Given the description of an element on the screen output the (x, y) to click on. 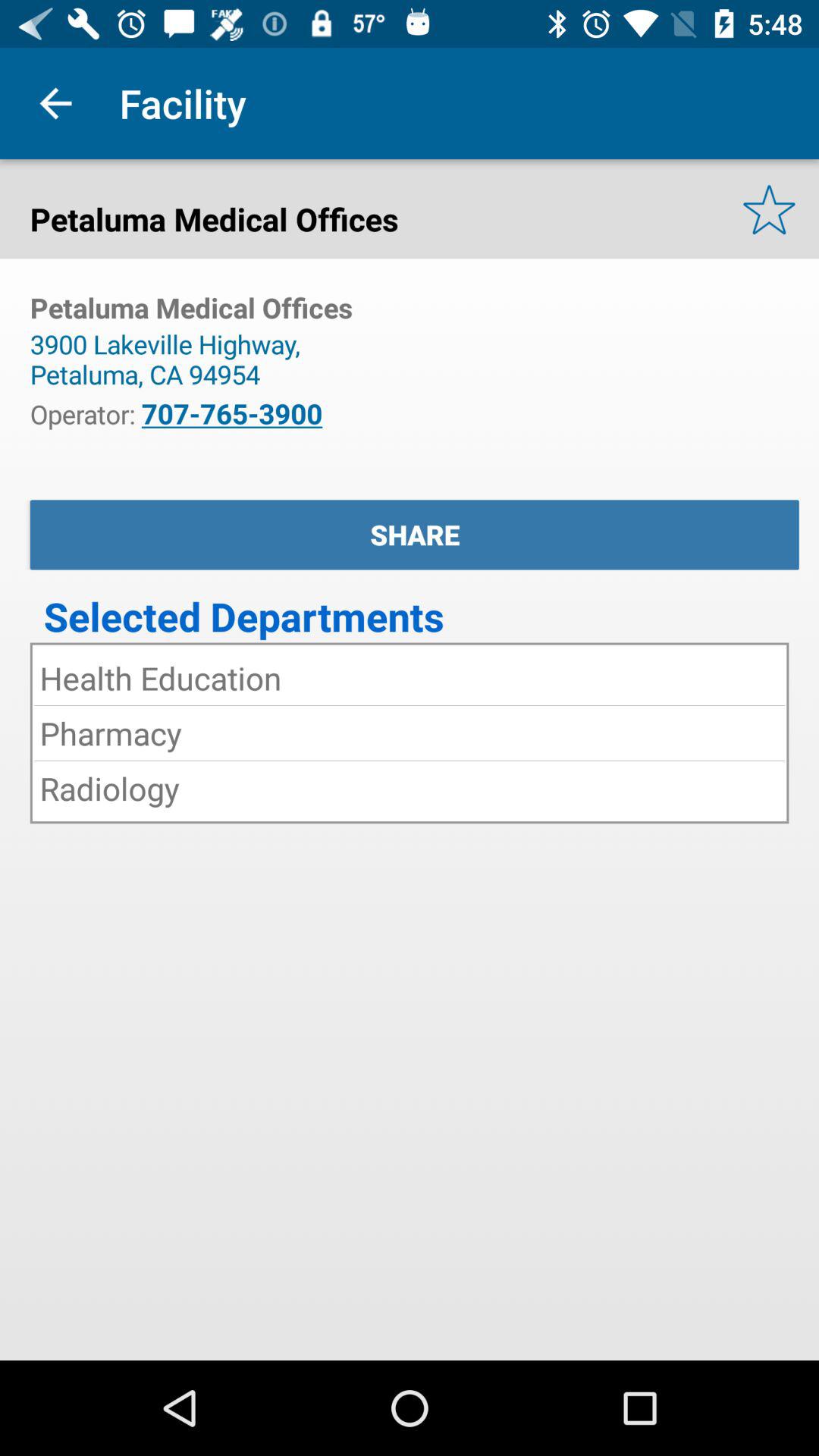
click 707-765-3900 (231, 413)
